Given the description of an element on the screen output the (x, y) to click on. 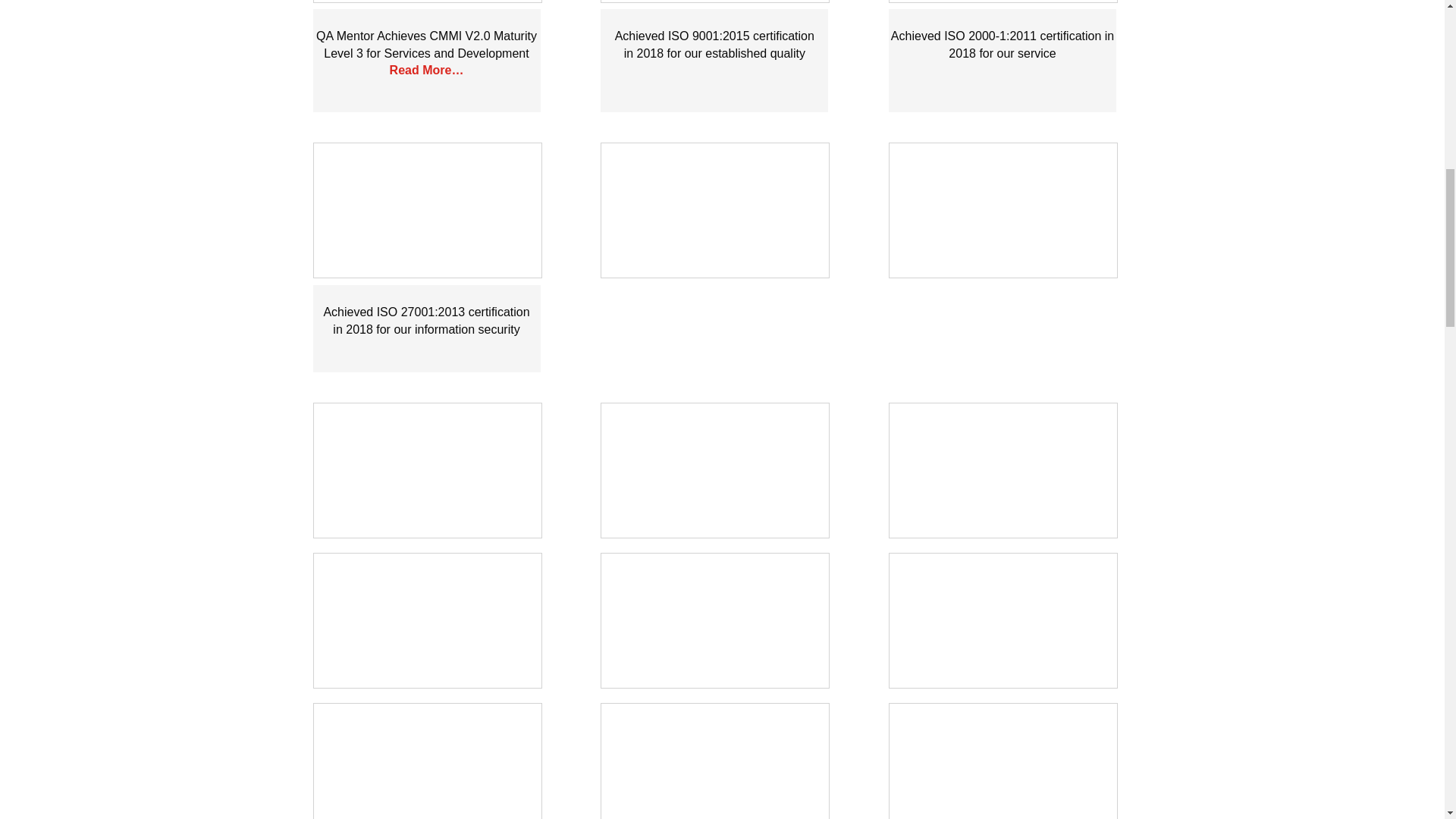
1b-certificate-qa-testing (427, 210)
